Given the description of an element on the screen output the (x, y) to click on. 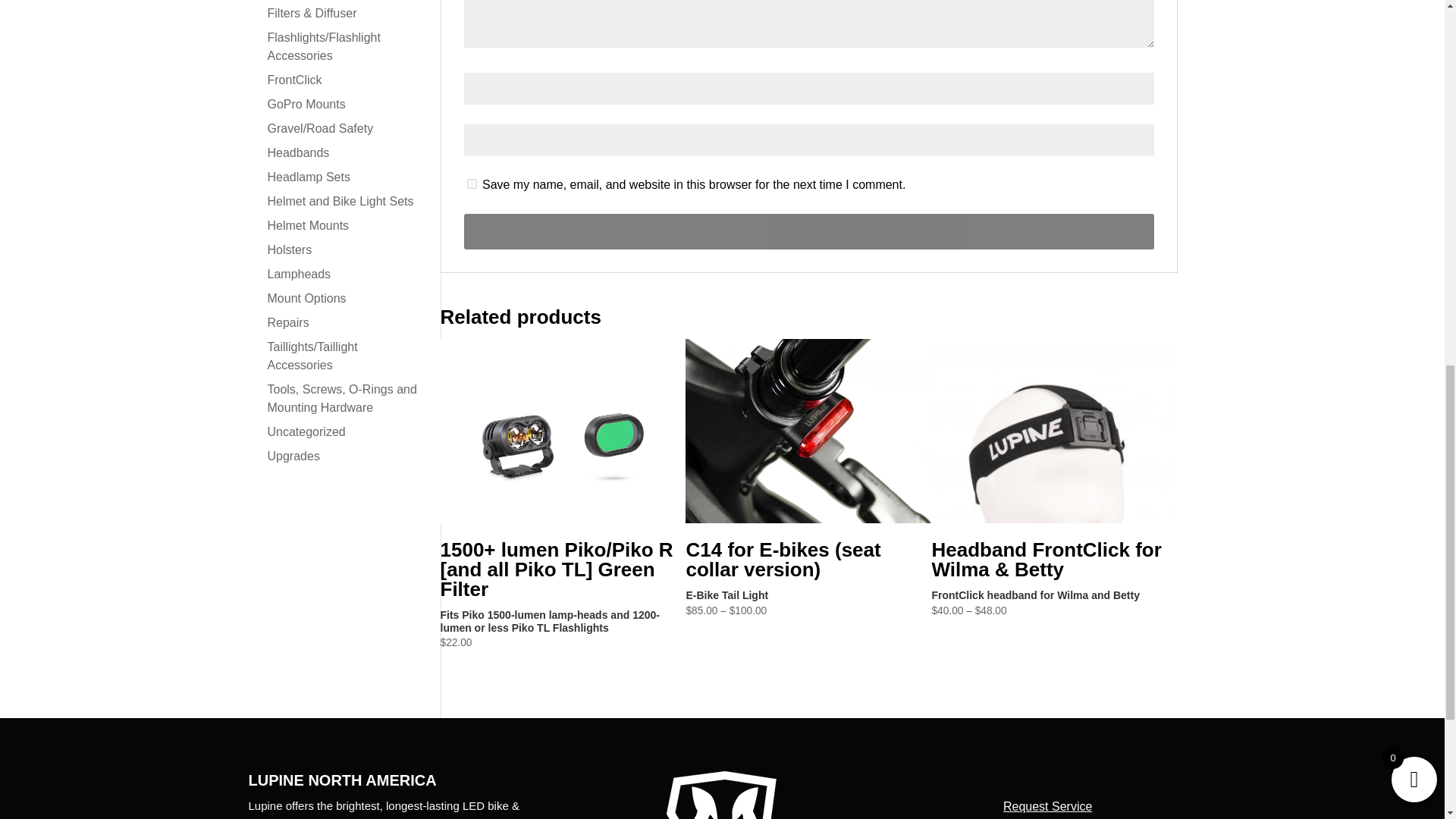
yes (472, 184)
Submit (809, 231)
